Given the description of an element on the screen output the (x, y) to click on. 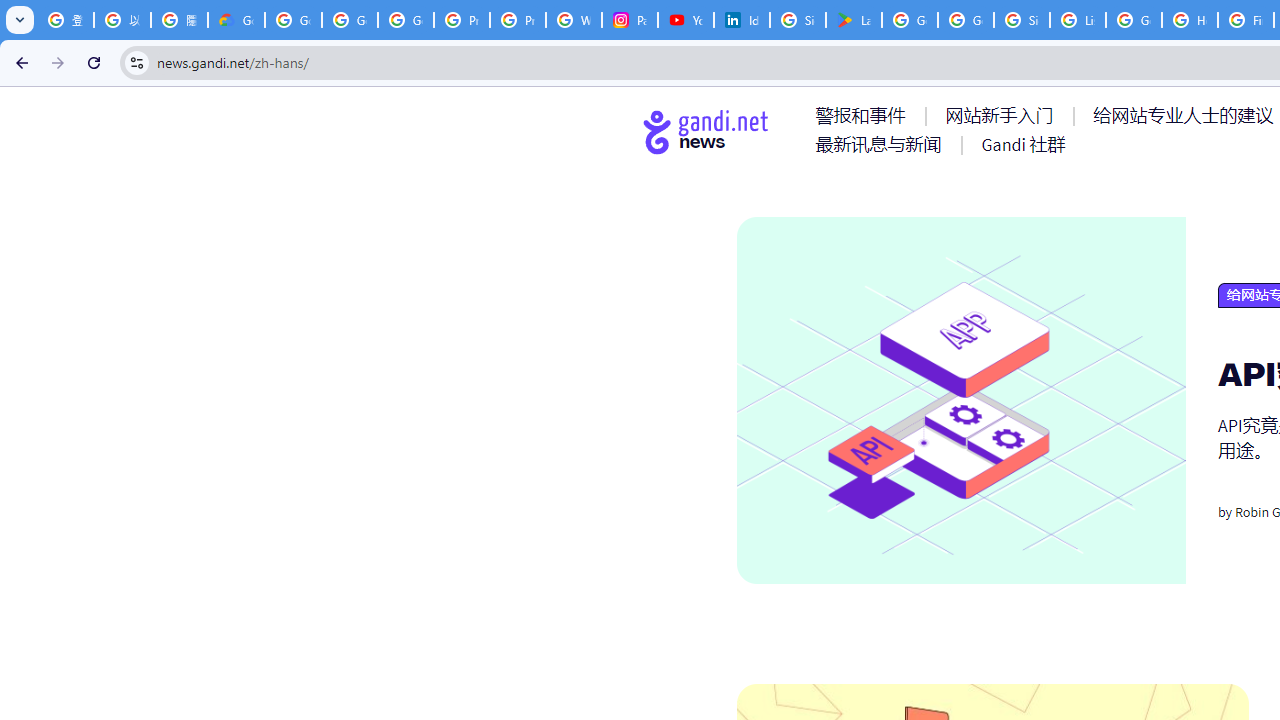
How do I create a new Google Account? - Google Account Help (1190, 20)
AutomationID: menu-item-77762 (1003, 115)
